Given the description of an element on the screen output the (x, y) to click on. 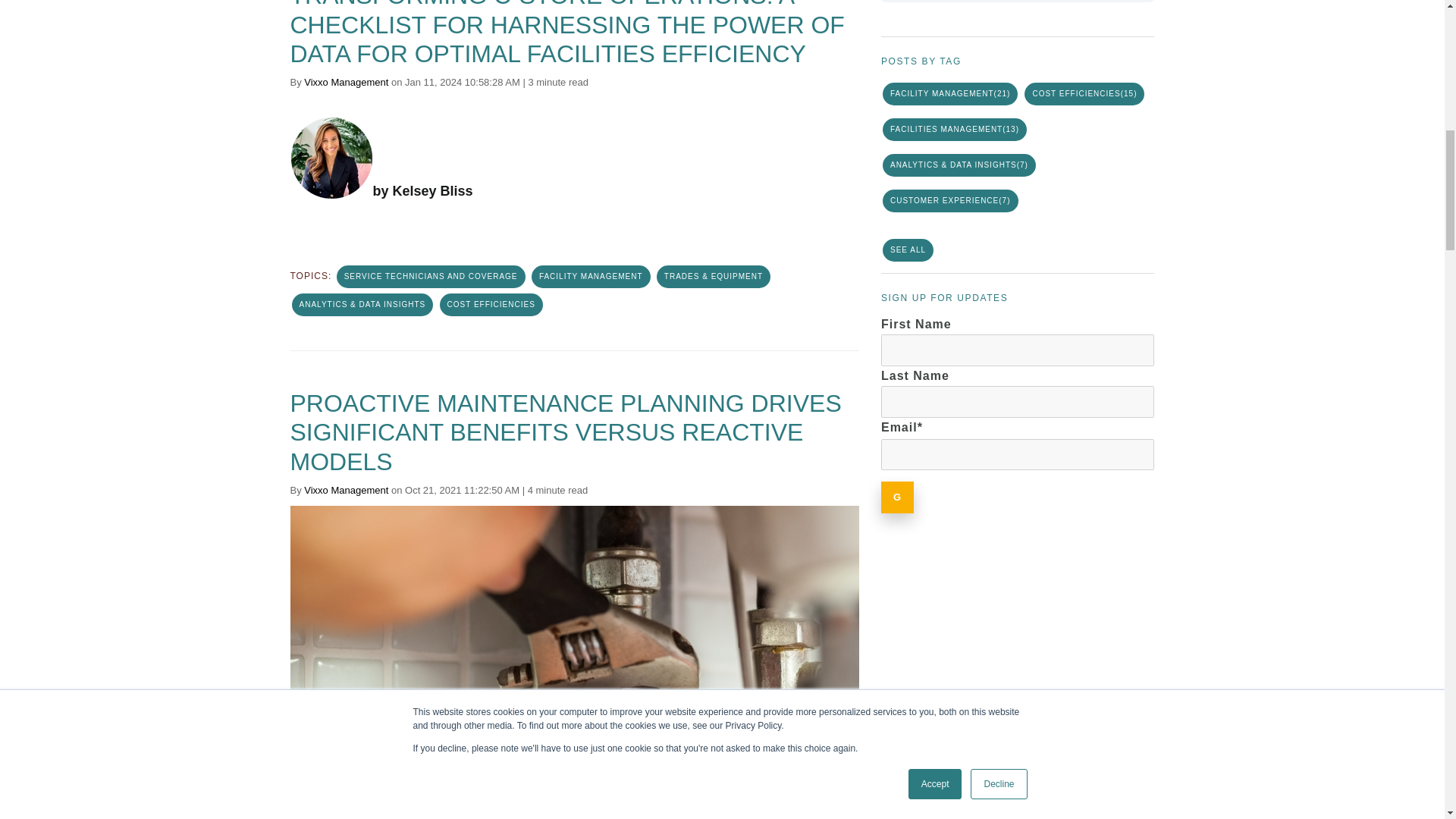
G (897, 497)
